Given the description of an element on the screen output the (x, y) to click on. 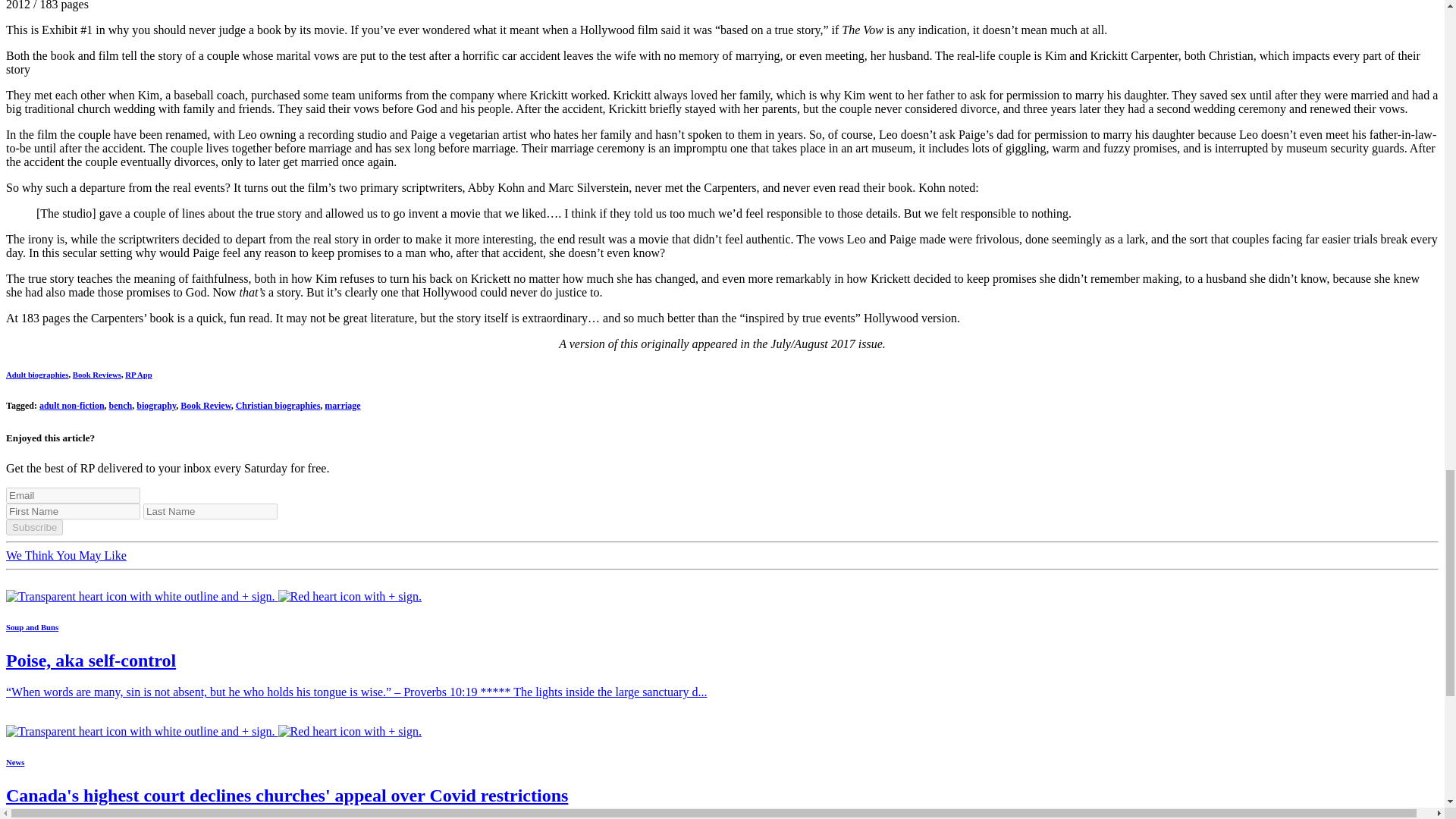
RP App (138, 374)
Adult biographies (36, 374)
adult non-fiction (71, 405)
biography (156, 405)
Book Reviews (96, 374)
Subscribe to RP (213, 595)
bench (120, 405)
Subscribe (33, 527)
Subscribe to RP (213, 730)
